Given the description of an element on the screen output the (x, y) to click on. 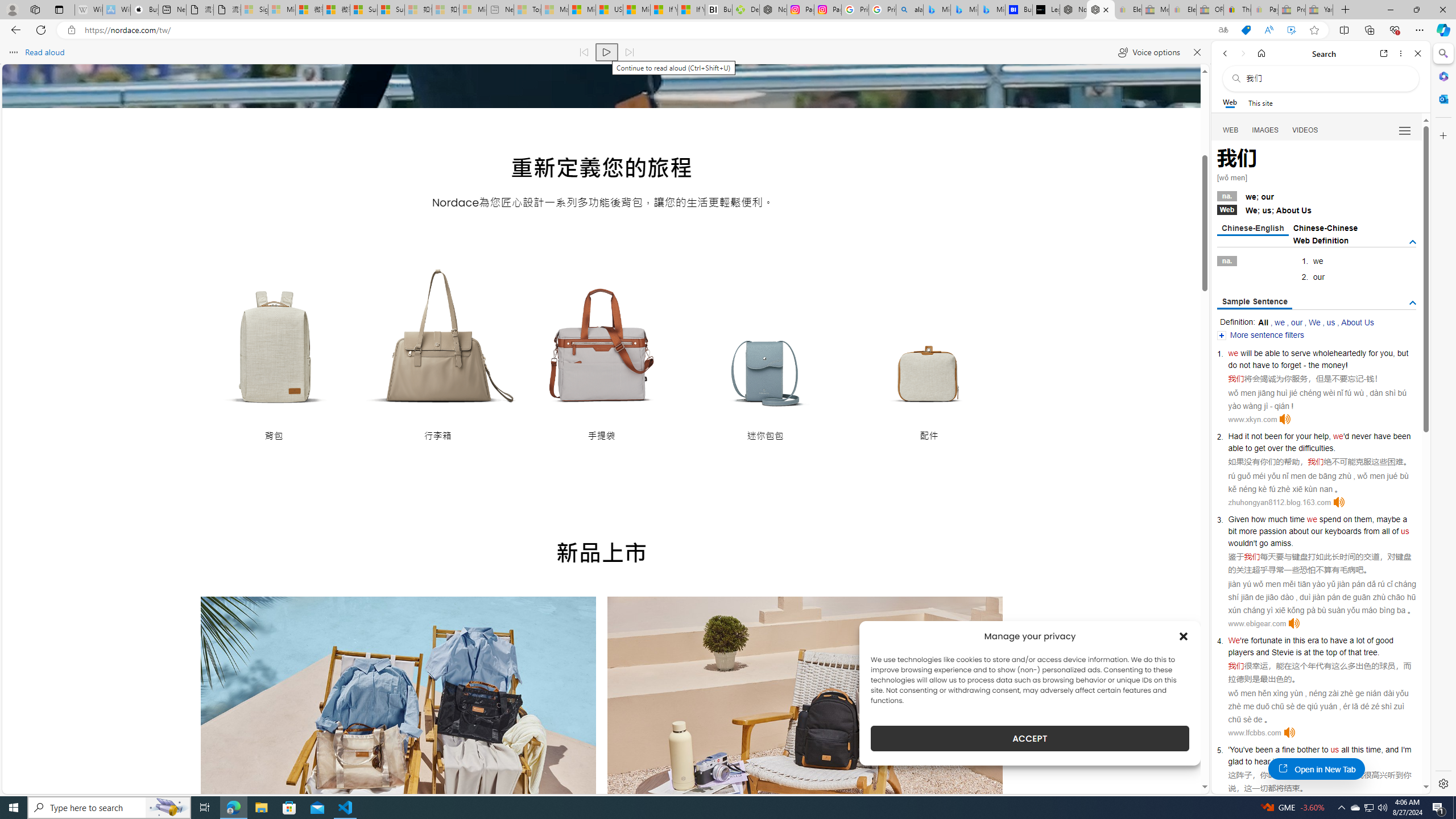
Web Definition (1321, 240)
a (1277, 749)
Next (977, 780)
more (1248, 530)
AutomationID: tgdef_sen (1412, 302)
keyboards (1342, 530)
www.ebigear.com (1257, 623)
hear (1262, 760)
